Given the description of an element on the screen output the (x, y) to click on. 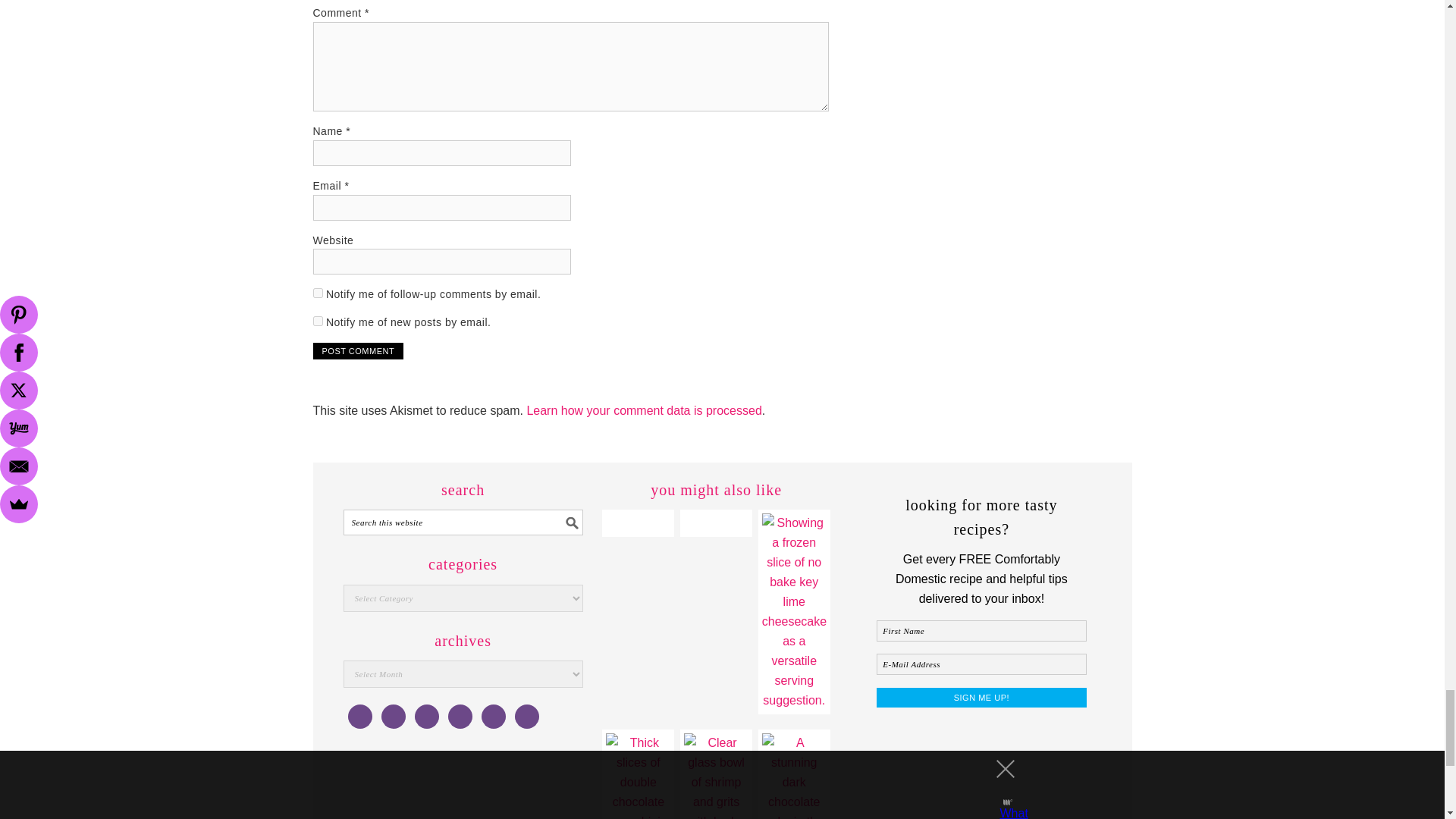
subscribe (317, 293)
Post Comment (358, 351)
subscribe (317, 320)
Sign Me Up! (981, 697)
